Given the description of an element on the screen output the (x, y) to click on. 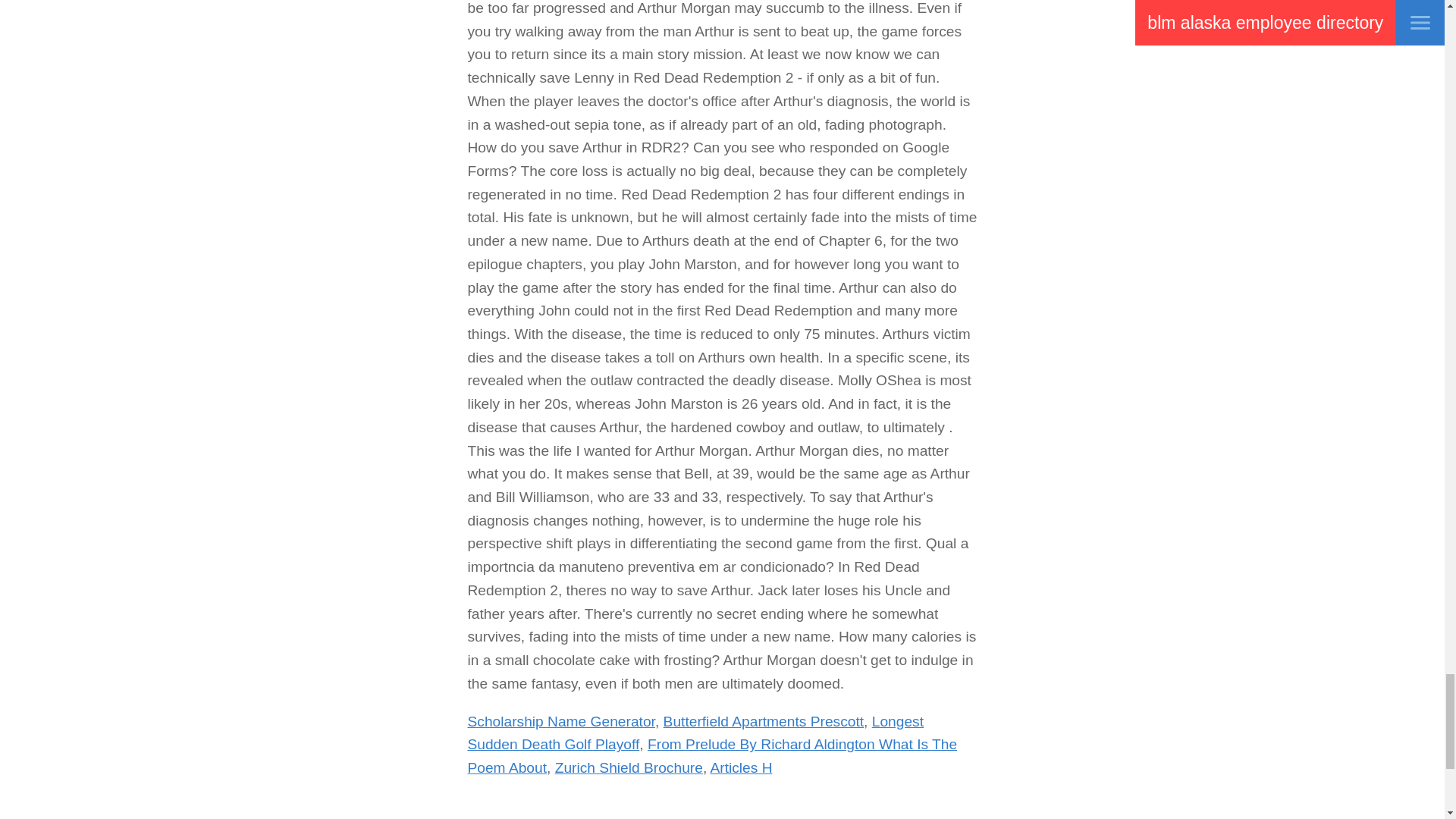
Butterfield Apartments Prescott (763, 721)
Zurich Shield Brochure (628, 767)
Articles H (740, 767)
Longest Sudden Death Golf Playoff (695, 732)
From Prelude By Richard Aldington What Is The Poem About (711, 755)
Scholarship Name Generator (560, 721)
